Given the description of an element on the screen output the (x, y) to click on. 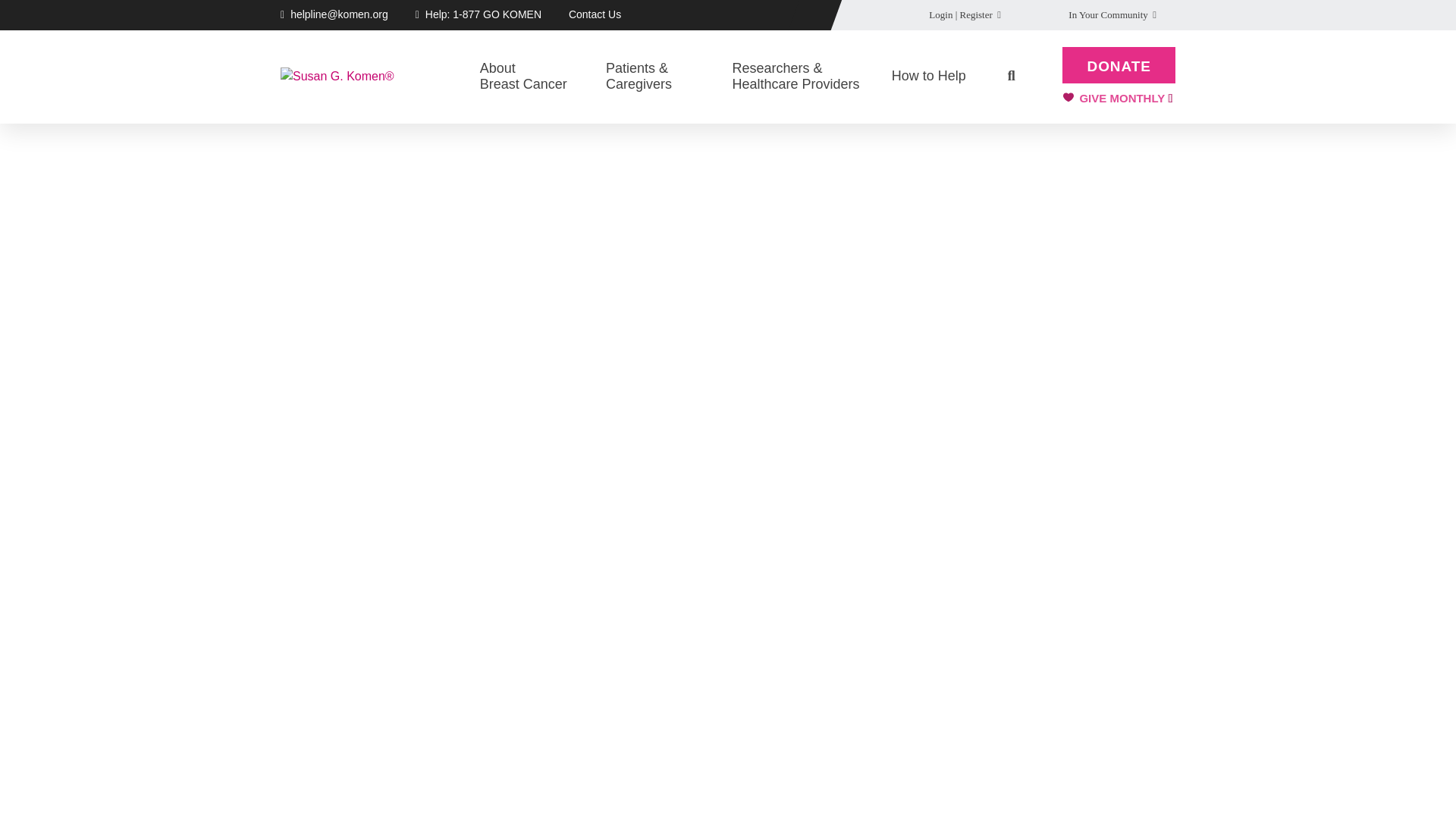
Help: 1-877 GO KOMEN (483, 14)
Contact Us (595, 14)
